Given the description of an element on the screen output the (x, y) to click on. 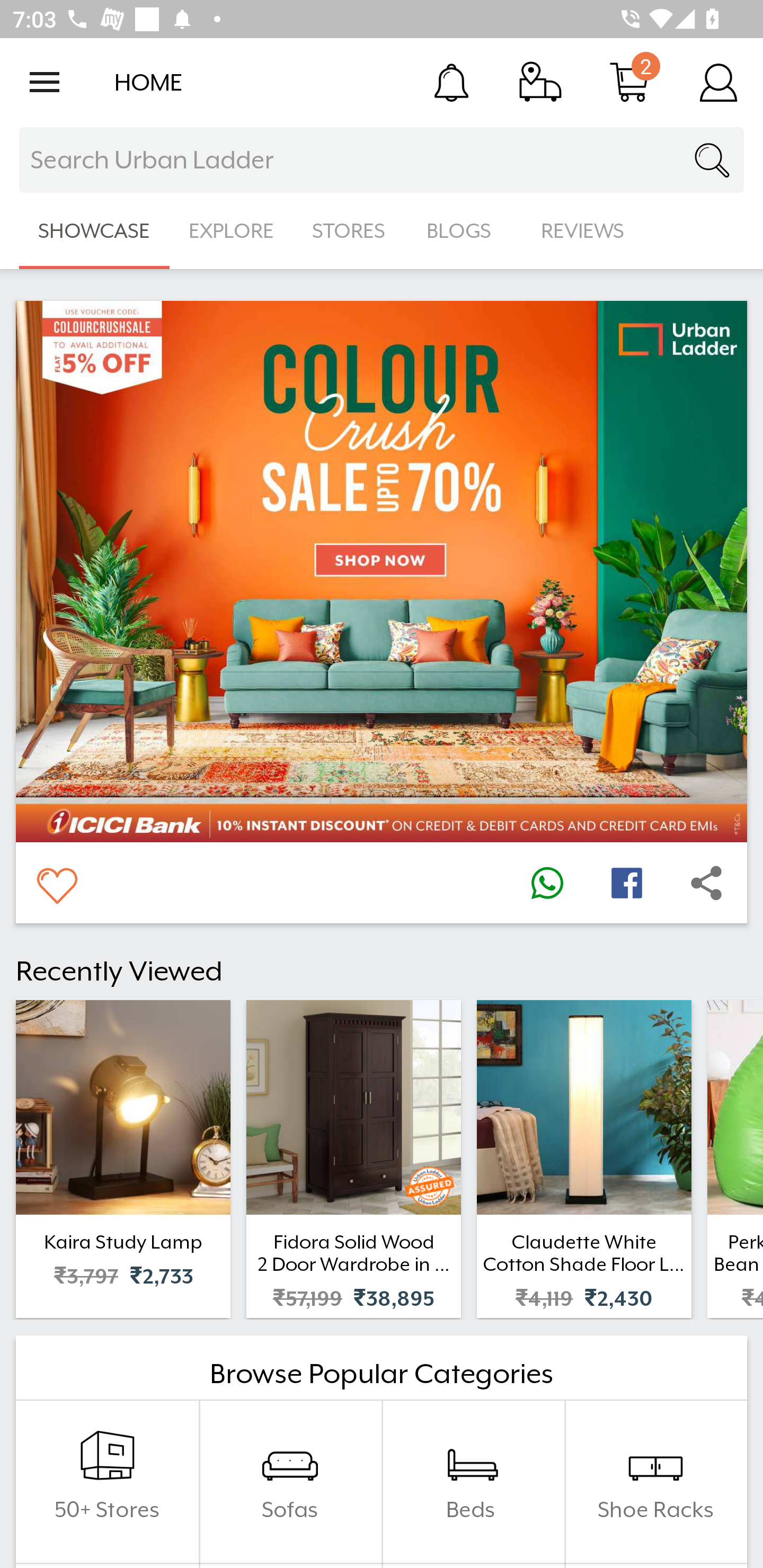
Open navigation drawer (44, 82)
Notification (450, 81)
Track Order (540, 81)
Cart (629, 81)
Account Details (718, 81)
Search Urban Ladder  (381, 159)
SHOWCASE (94, 230)
EXPLORE (230, 230)
STORES (349, 230)
BLOGS (464, 230)
REVIEWS (582, 230)
 (55, 882)
 (547, 882)
 (626, 882)
 (706, 882)
Kaira Study Lamp ₹3,797 ₹2,733 (123, 1159)
50+ Stores (106, 1481)
Sofas (289, 1481)
Beds  (473, 1481)
Shoe Racks (655, 1481)
